Given the description of an element on the screen output the (x, y) to click on. 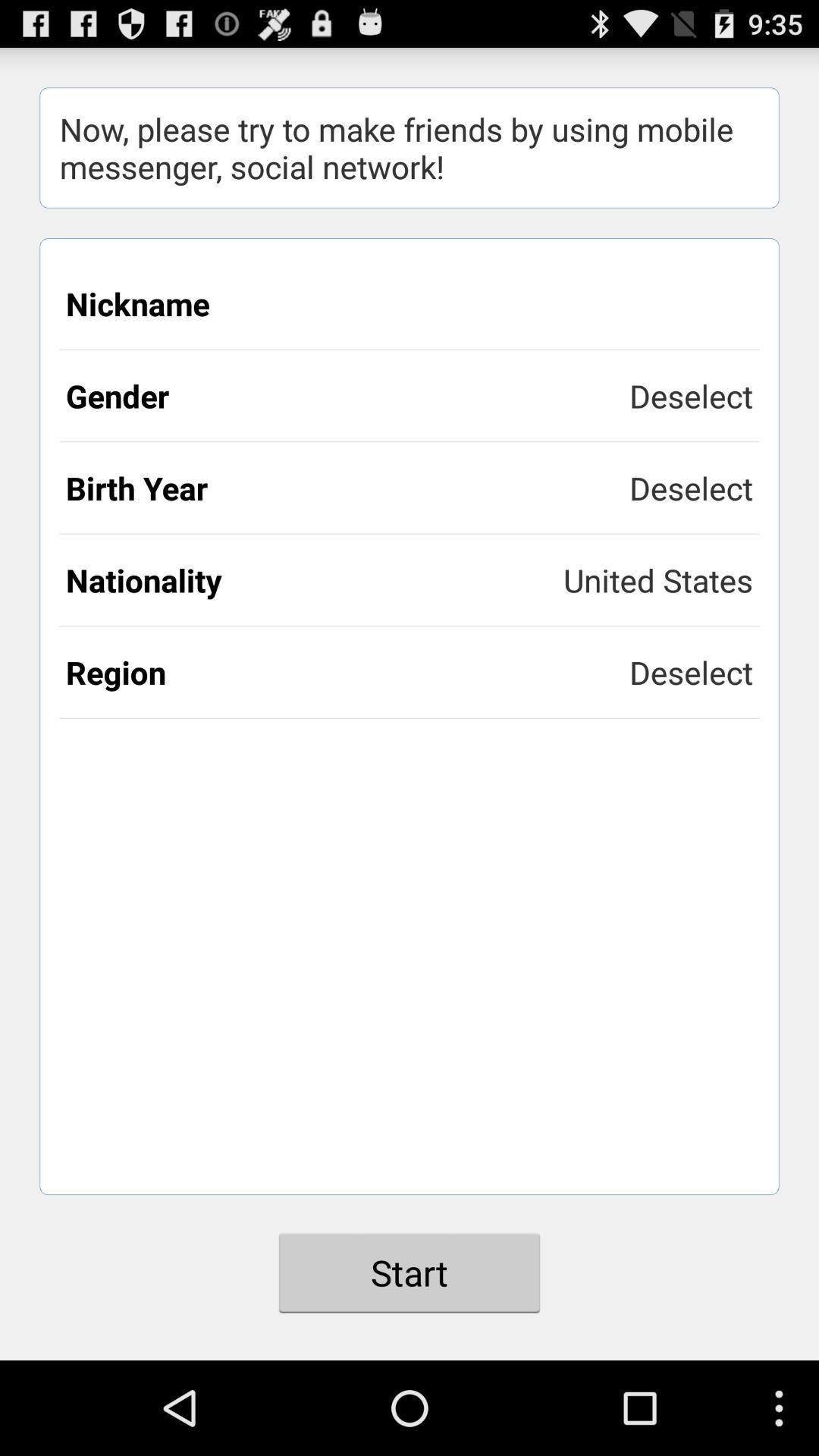
tap the app below birth year (314, 579)
